Given the description of an element on the screen output the (x, y) to click on. 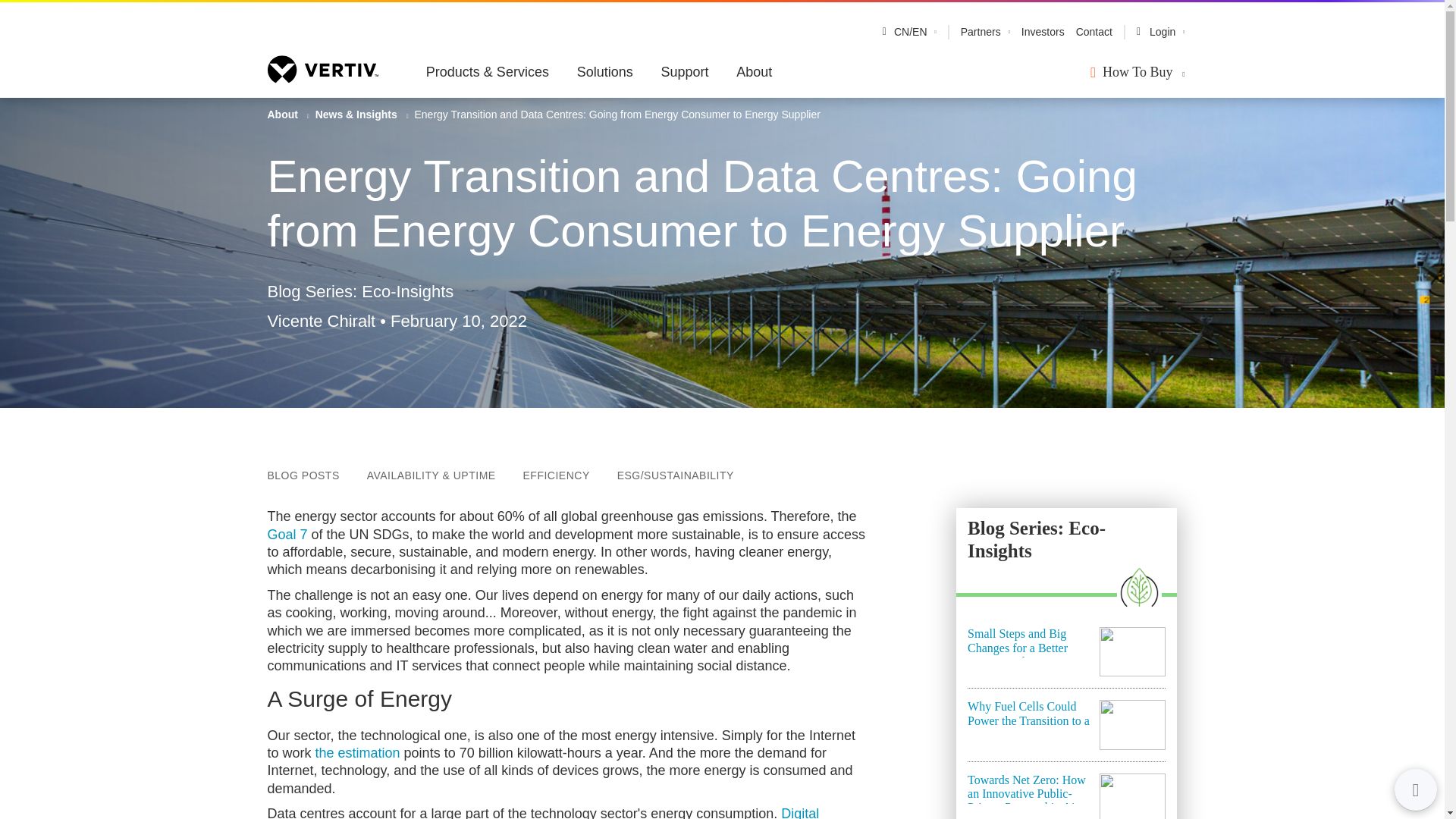
Login (1161, 32)
Investors (1043, 31)
Contact (1093, 31)
Partners (980, 31)
